Given the description of an element on the screen output the (x, y) to click on. 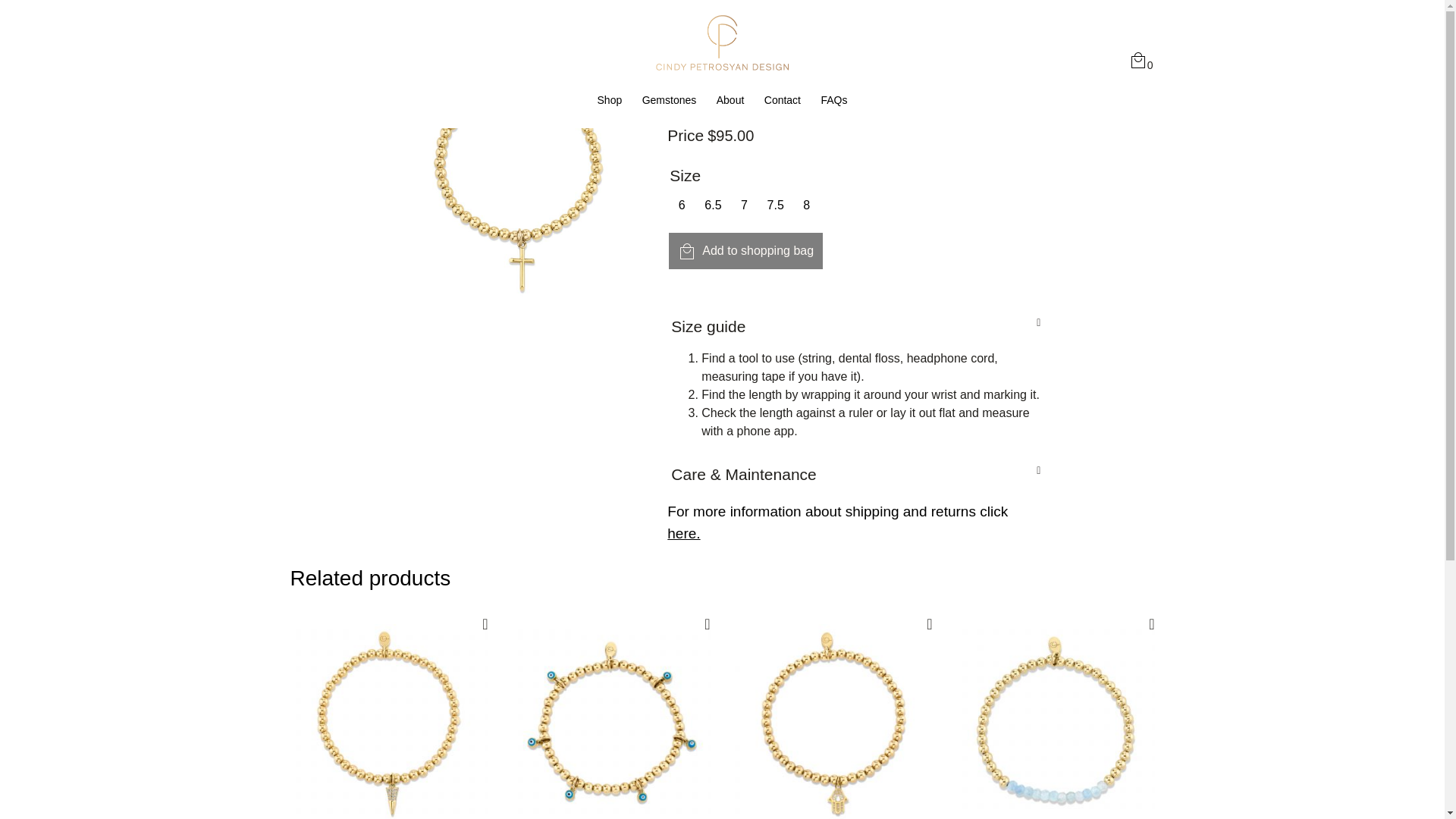
6.5 (712, 205)
View your shopping cart (1141, 64)
Size guide (708, 325)
About (730, 100)
Shop (609, 100)
Add to shopping bag (745, 250)
8 (806, 205)
For more information about shipping and returns click here. (836, 522)
7 (744, 205)
Gemstones (669, 100)
7.5 (775, 205)
0 (1141, 64)
Home (303, 19)
FAQs (834, 100)
6 (681, 205)
